Given the description of an element on the screen output the (x, y) to click on. 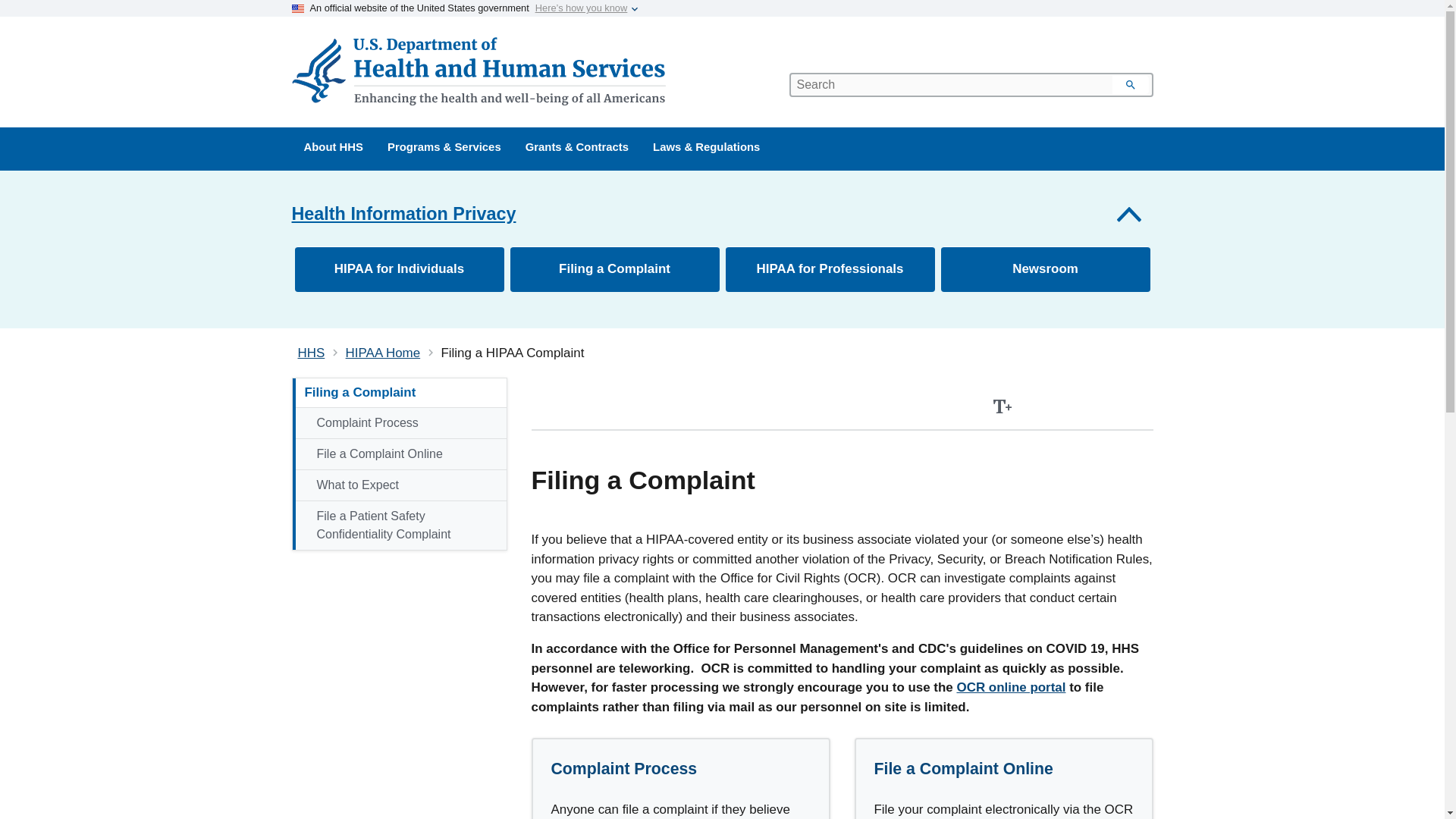
HIPAA Home (383, 352)
Email (1137, 406)
Filing a Complaint (382, 392)
OCR online portal (1010, 687)
HHS (310, 352)
Newsroom (1045, 268)
Filing a Complaint (614, 268)
Health Information Privacy (722, 213)
HIPAA for Individuals (398, 268)
Complaint Process (623, 769)
Print (1035, 406)
File a Complaint Online (399, 453)
About HHS (333, 148)
X (1104, 406)
File a Complaint Online (962, 769)
